Given the description of an element on the screen output the (x, y) to click on. 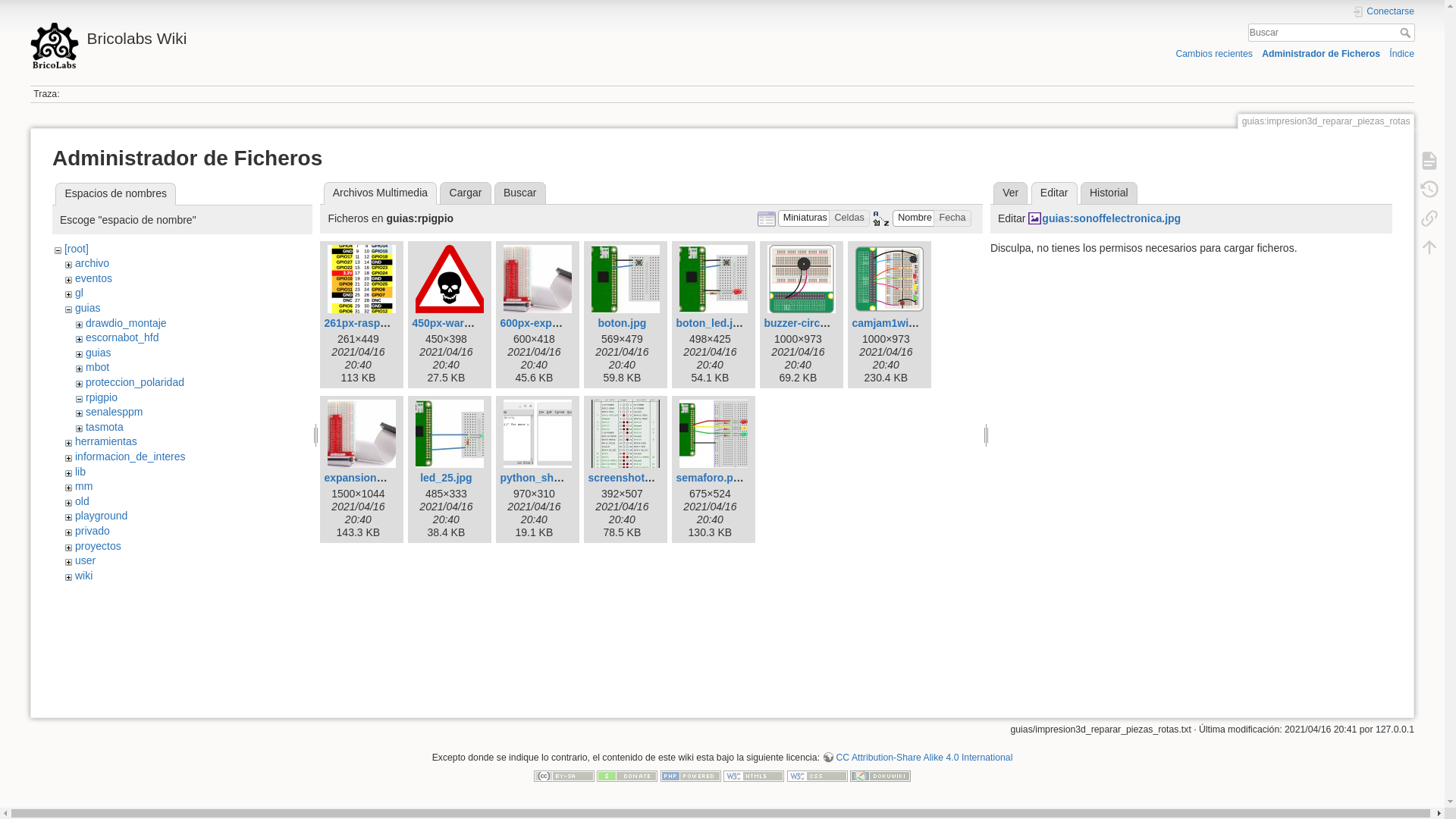
python_shell_program.png Element type: text (567, 477)
escornabot_hfd Element type: text (122, 337)
guias Element type: text (97, 352)
Revisiones antiguas [o] Element type: hover (1429, 189)
guias Element type: text (87, 307)
camjam1wiring.png Element type: text (900, 322)
Cambios recientes Element type: text (1213, 53)
proyectos Element type: text (98, 545)
Bricolabs Wiki Element type: text (369, 34)
Conectarse Element type: text (1383, 11)
wiki Element type: text (83, 575)
lib Element type: text (80, 471)
privado Element type: text (92, 530)
[F] Element type: hover (1331, 32)
Cargar Element type: text (464, 193)
Volver arriba [t] Element type: hover (1429, 246)
user Element type: text (85, 560)
Ver Element type: text (1010, 193)
boton_led.jpg Element type: text (710, 322)
600px-expansion_raspi.jpg Element type: text (567, 322)
Valid HTML5 Element type: hover (753, 774)
proteccion_polaridad Element type: text (134, 382)
gl Element type: text (79, 292)
Historial Element type: text (1108, 193)
Buscar Element type: text (1406, 32)
tasmota Element type: text (104, 426)
guias:sonoffelectronica.jpg Element type: text (1104, 218)
senalesppm Element type: text (114, 411)
261px-raspipinout.png Element type: text (380, 322)
mbot Element type: text (97, 366)
informacion_de_interes Element type: text (130, 456)
Buscar Element type: text (520, 193)
semaforo.png Element type: text (710, 477)
Driven by DokuWiki Element type: hover (880, 774)
buzzer-circuit.png Element type: text (809, 322)
herramientas Element type: text (106, 441)
Valid CSS Element type: hover (817, 774)
old Element type: text (82, 501)
boton.jpg Element type: text (621, 322)
rpigpio Element type: text (101, 397)
archivo Element type: text (92, 263)
[root] Element type: text (76, 248)
screenshot.jpg Element type: text (625, 477)
450px-warningpi.png Element type: text (464, 322)
eventos Element type: text (93, 278)
playground Element type: text (101, 515)
Powered by PHP Element type: hover (690, 774)
CC Attribution-Share Alike 4.0 International Element type: text (917, 757)
drawdio_montaje Element type: text (125, 322)
expansion_raspi.jpg Element type: text (374, 477)
Administrador de Ficheros Element type: text (1320, 53)
Donate Element type: hover (626, 774)
led_25.jpg Element type: text (445, 477)
mm Element type: text (83, 486)
